Given the description of an element on the screen output the (x, y) to click on. 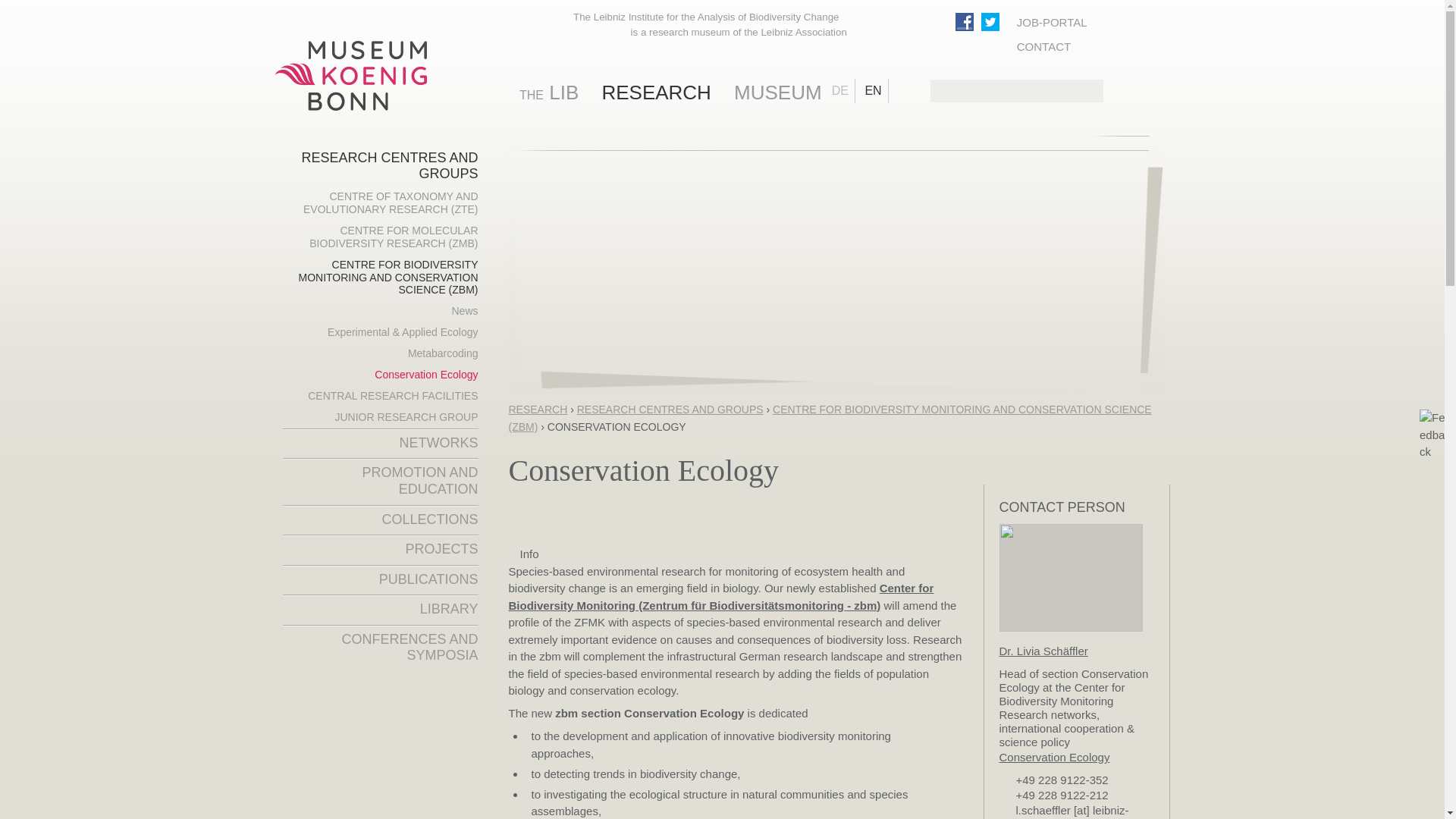
Deutsch (843, 90)
CONTACT (1051, 47)
Enter the terms you wish to search for. (1016, 90)
Link to Leibniz Association (901, 29)
DE (843, 90)
Search (1092, 90)
Search (1092, 90)
Display a printer-friendly version of this page. (925, 536)
English (876, 90)
Send this page by email. (956, 502)
THE LIB (558, 91)
JOB-PORTAL (1051, 22)
Skip to main content (674, 1)
